Given the description of an element on the screen output the (x, y) to click on. 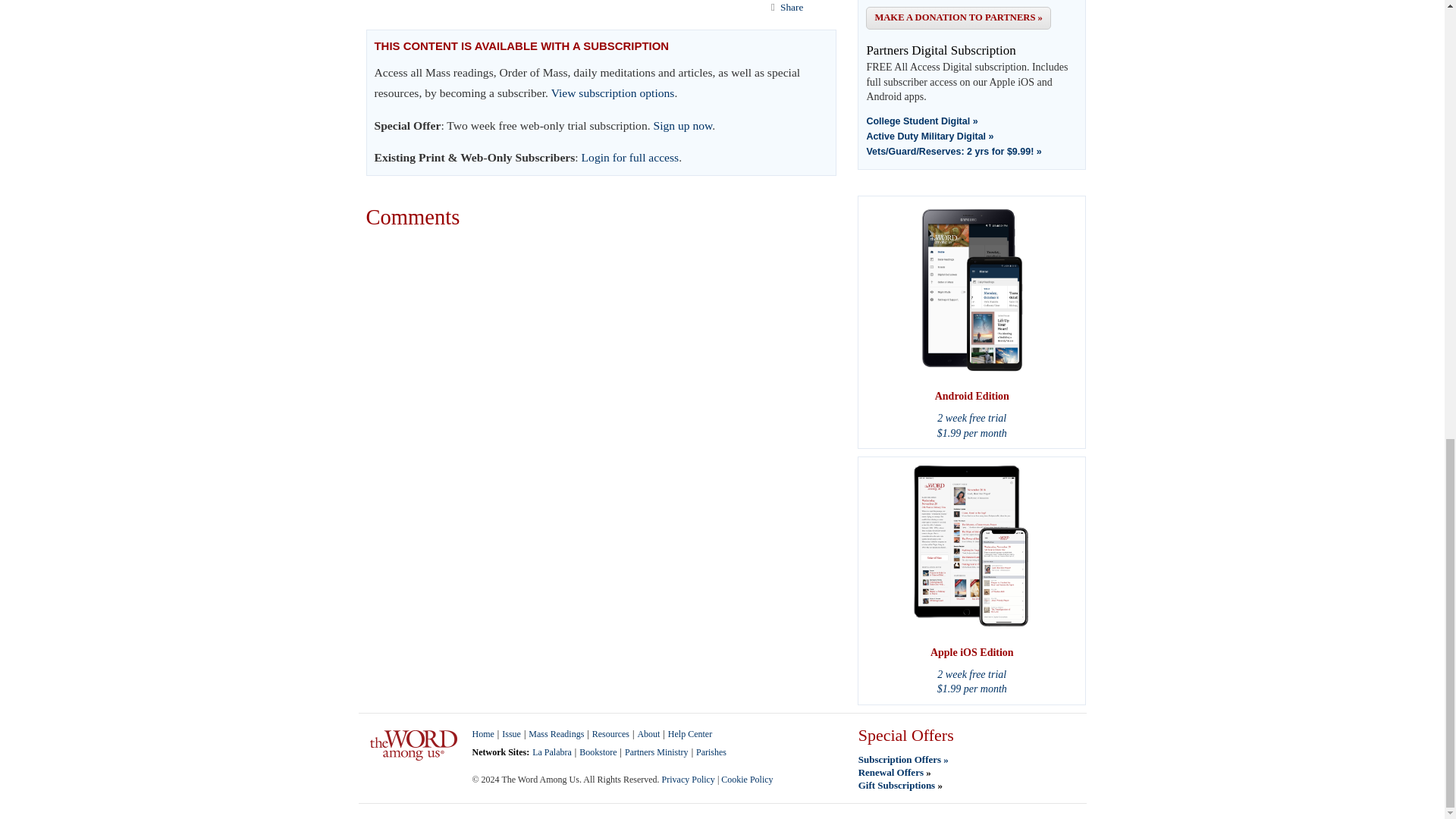
Privacy Policy (688, 778)
Sign up now (683, 124)
Login for full access (629, 156)
Cookie Policy (746, 778)
Share (791, 7)
View subscription options (613, 92)
